Given the description of an element on the screen output the (x, y) to click on. 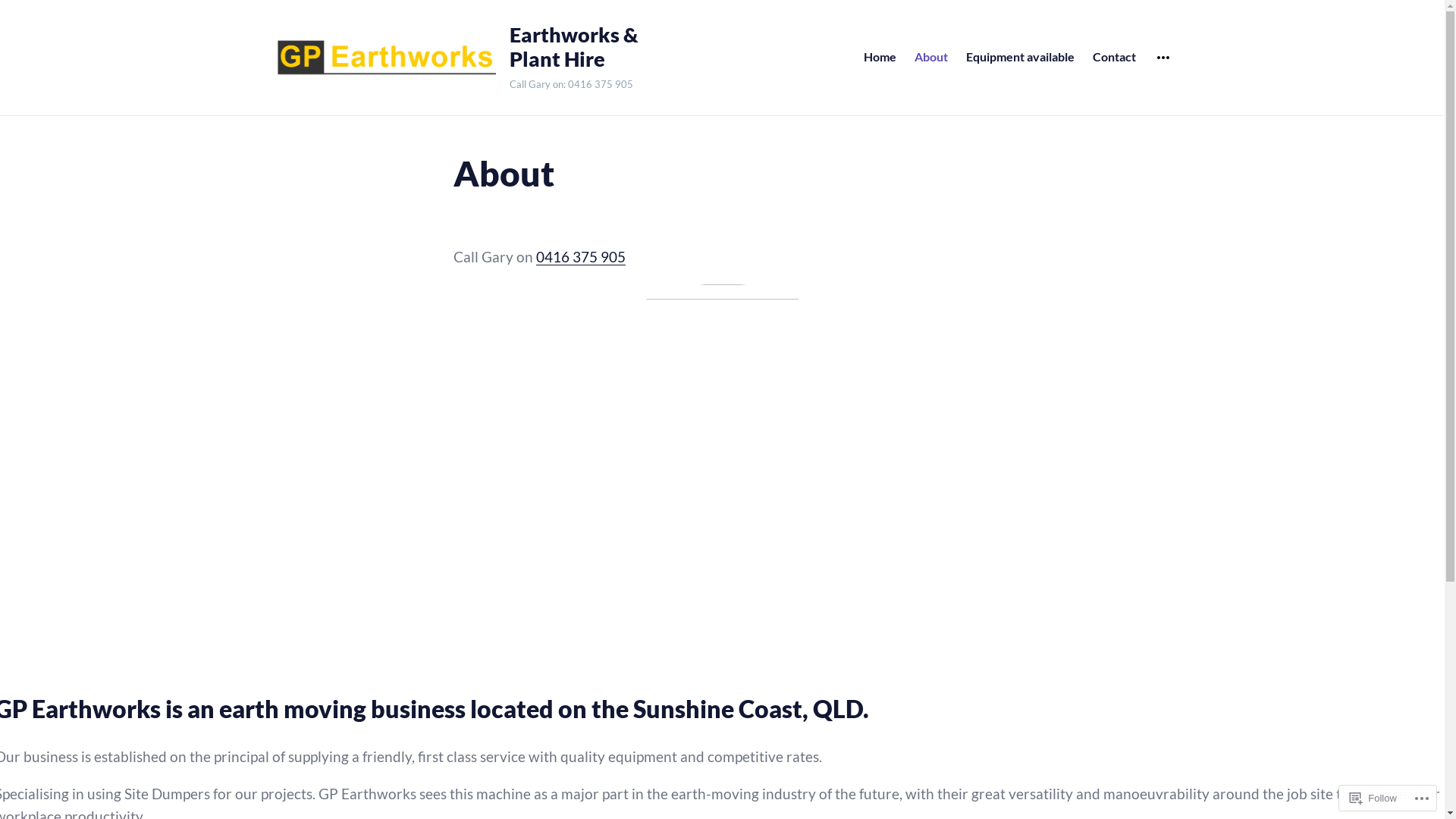
MORE Element type: text (1163, 57)
Home Element type: text (879, 56)
Equipment available Element type: text (1020, 56)
0416 375 905 Element type: text (579, 256)
Earthworks & Plant Hire Element type: text (582, 47)
Follow Element type: text (1372, 797)
About Element type: text (931, 56)
Contact Element type: text (1114, 56)
